Given the description of an element on the screen output the (x, y) to click on. 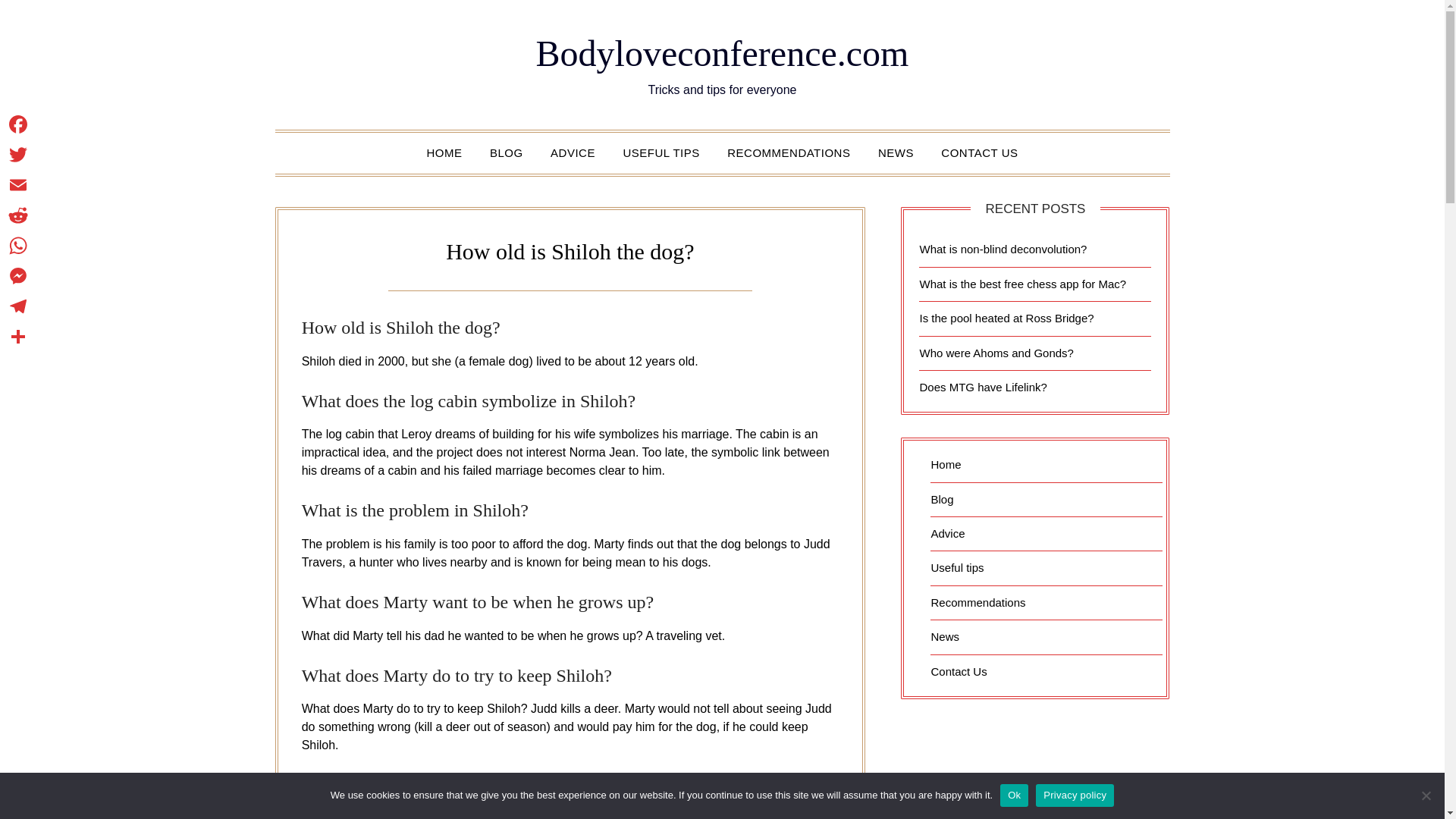
WhatsApp (17, 245)
Email (17, 184)
CONTACT US (978, 152)
Who were Ahoms and Gonds? (995, 351)
RECOMMENDATIONS (787, 152)
Messenger (17, 276)
Advice (946, 533)
Contact Us (958, 670)
Home (945, 463)
Useful tips (957, 567)
